Given the description of an element on the screen output the (x, y) to click on. 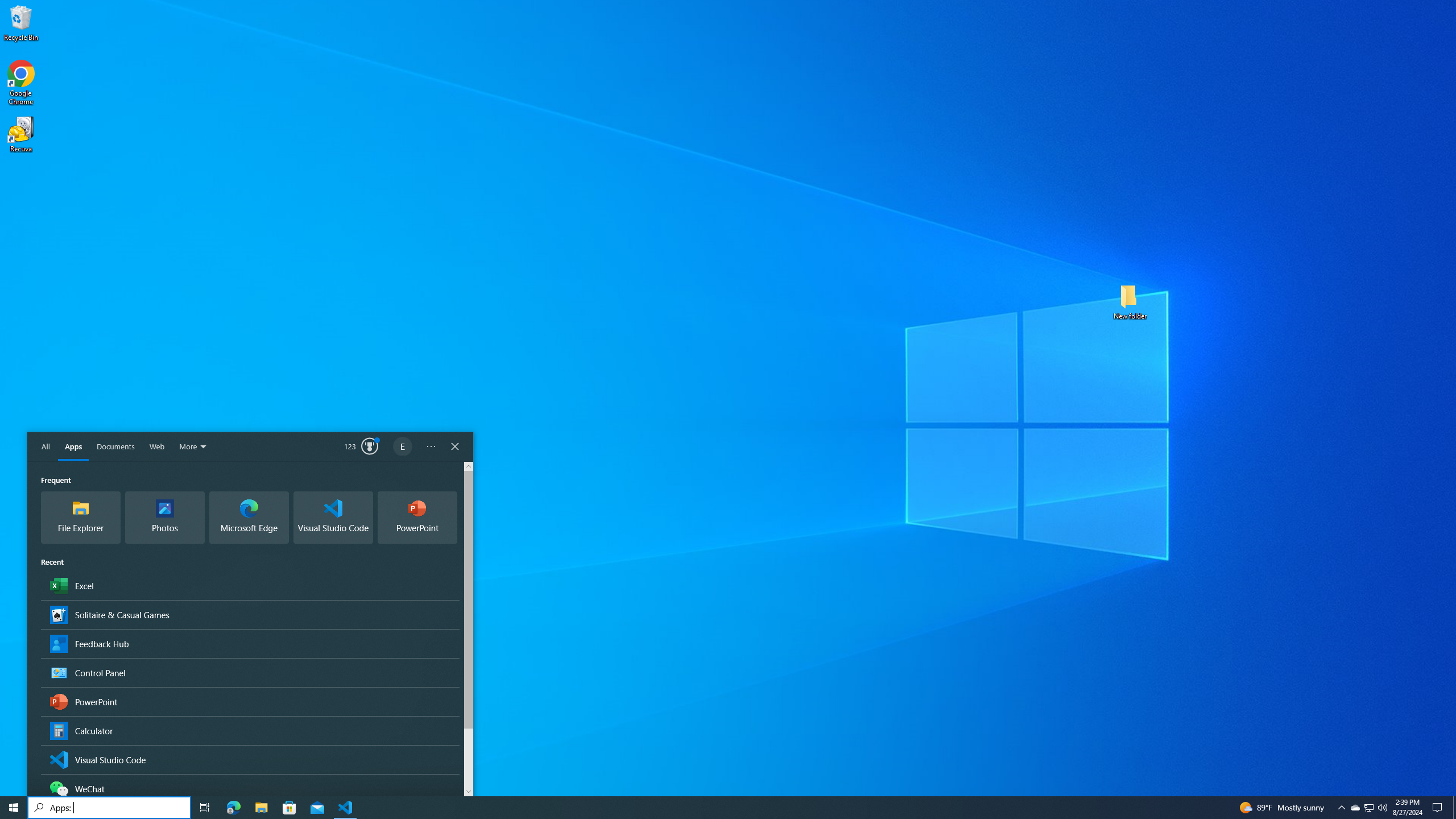
Visual Studio Code, App (250, 759)
Solitaire & Casual Games, App (250, 614)
Calculator, App (250, 730)
Recent Group,Excel, App (250, 585)
Microsoft Edge, Microsoft recommended browser (248, 517)
Photos, App (165, 517)
Microsoft Rewards balance: 123 (361, 447)
WeChat, App (250, 788)
PowerPoint, App (250, 701)
Apps (73, 447)
All (45, 447)
Search box (108, 807)
